Given the description of an element on the screen output the (x, y) to click on. 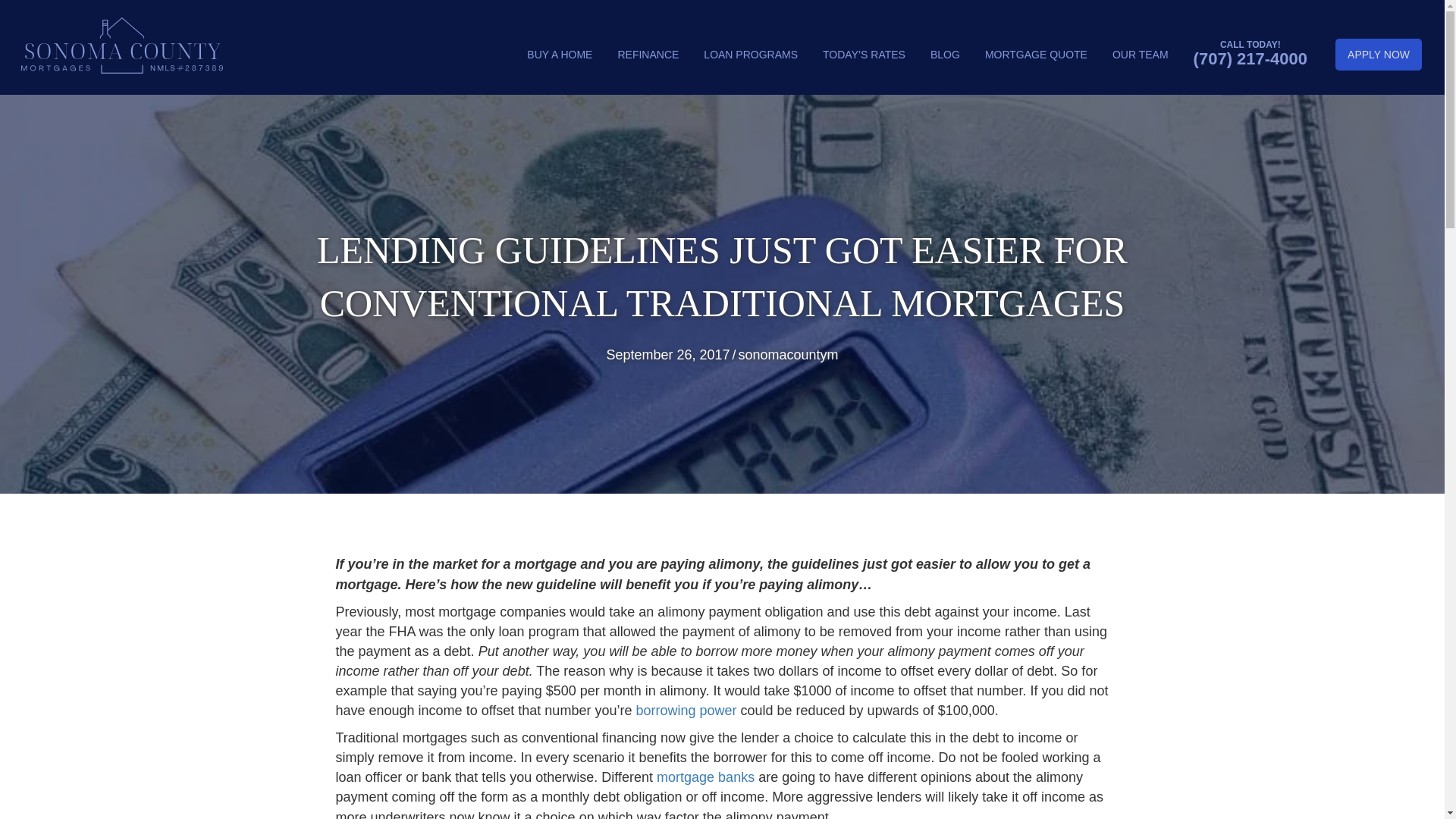
LOAN PROGRAMS (750, 54)
REFINANCE (647, 54)
OUR TEAM (1140, 54)
BLOG (945, 54)
mortgage banks (705, 776)
MORTGAGE QUOTE (1035, 54)
APPLY NOW (1378, 54)
BUY A HOME (559, 54)
Sonoma County Mortgages (121, 45)
borrowing power (686, 710)
